Given the description of an element on the screen output the (x, y) to click on. 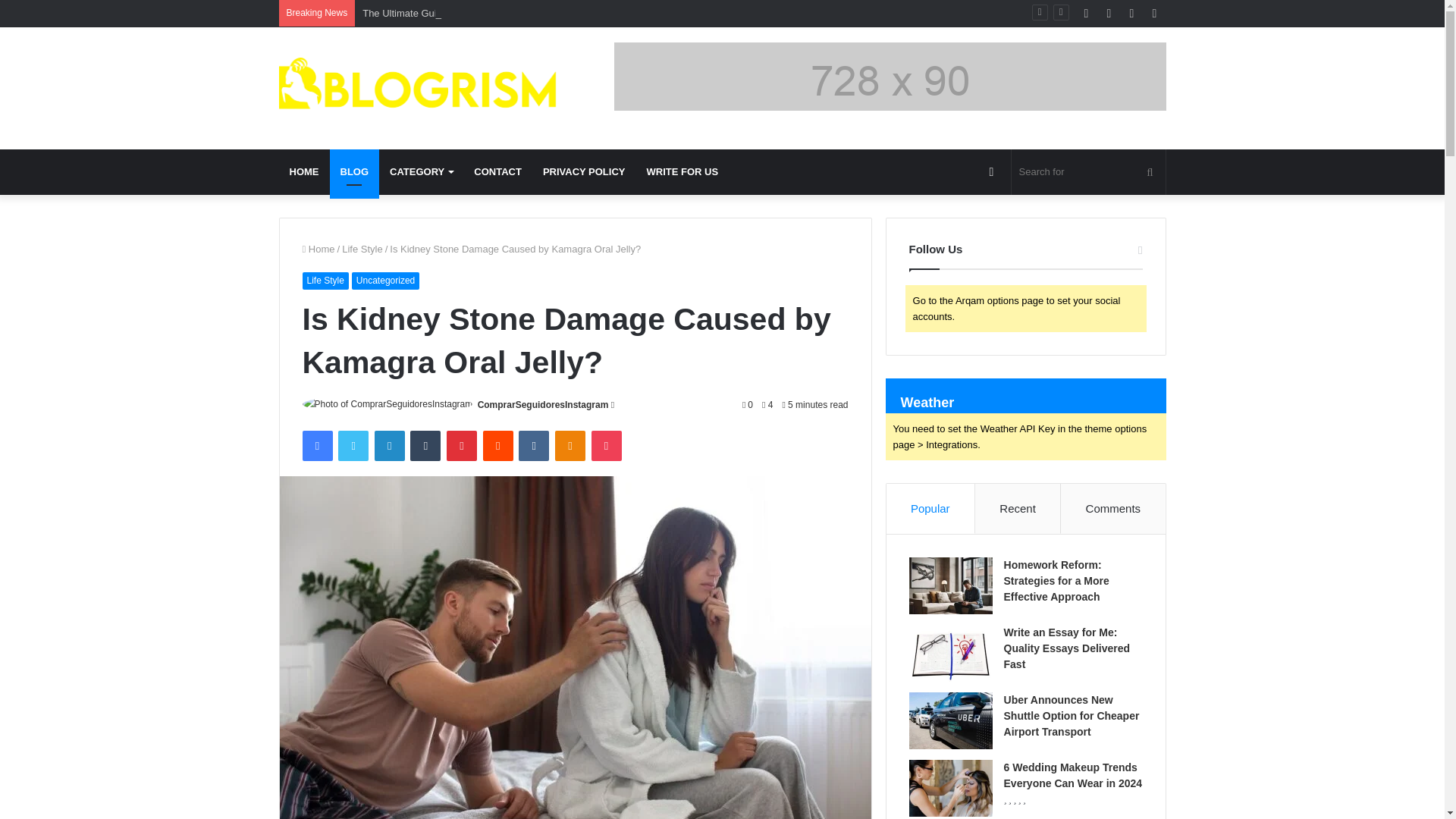
CATEGORY (420, 171)
HOME (304, 171)
Life Style (324, 280)
Odnoklassniki (569, 445)
LinkedIn (389, 445)
Tumblr (425, 445)
Life Style (361, 248)
WRITE FOR US (681, 171)
Twitter (352, 445)
Tumblr (425, 445)
Reddit (498, 445)
blogrism.com (419, 87)
Uncategorized (385, 280)
ComprarSeguidoresInstagram (542, 404)
Pinterest (461, 445)
